Given the description of an element on the screen output the (x, y) to click on. 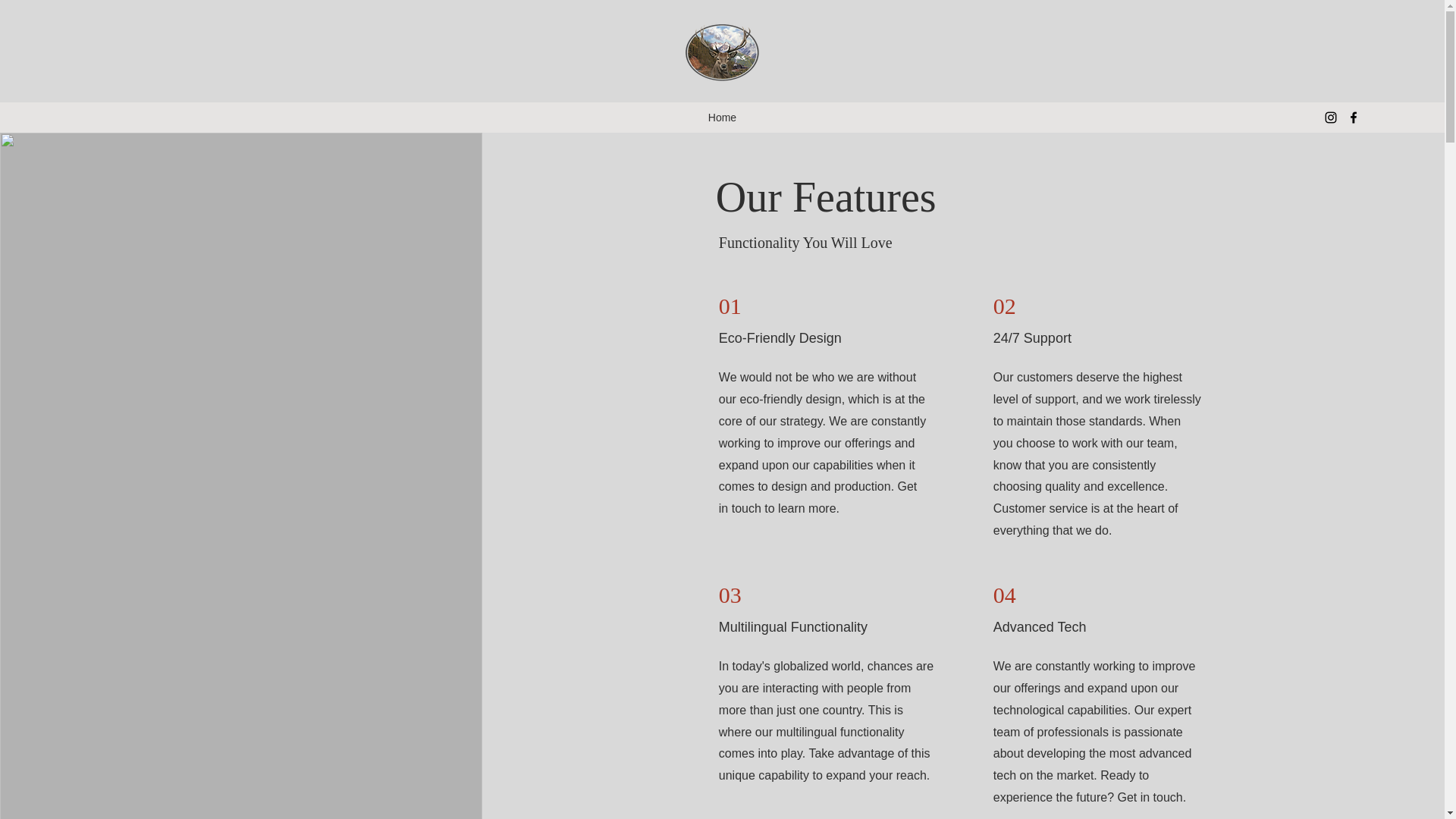
Home (722, 117)
